Given the description of an element on the screen output the (x, y) to click on. 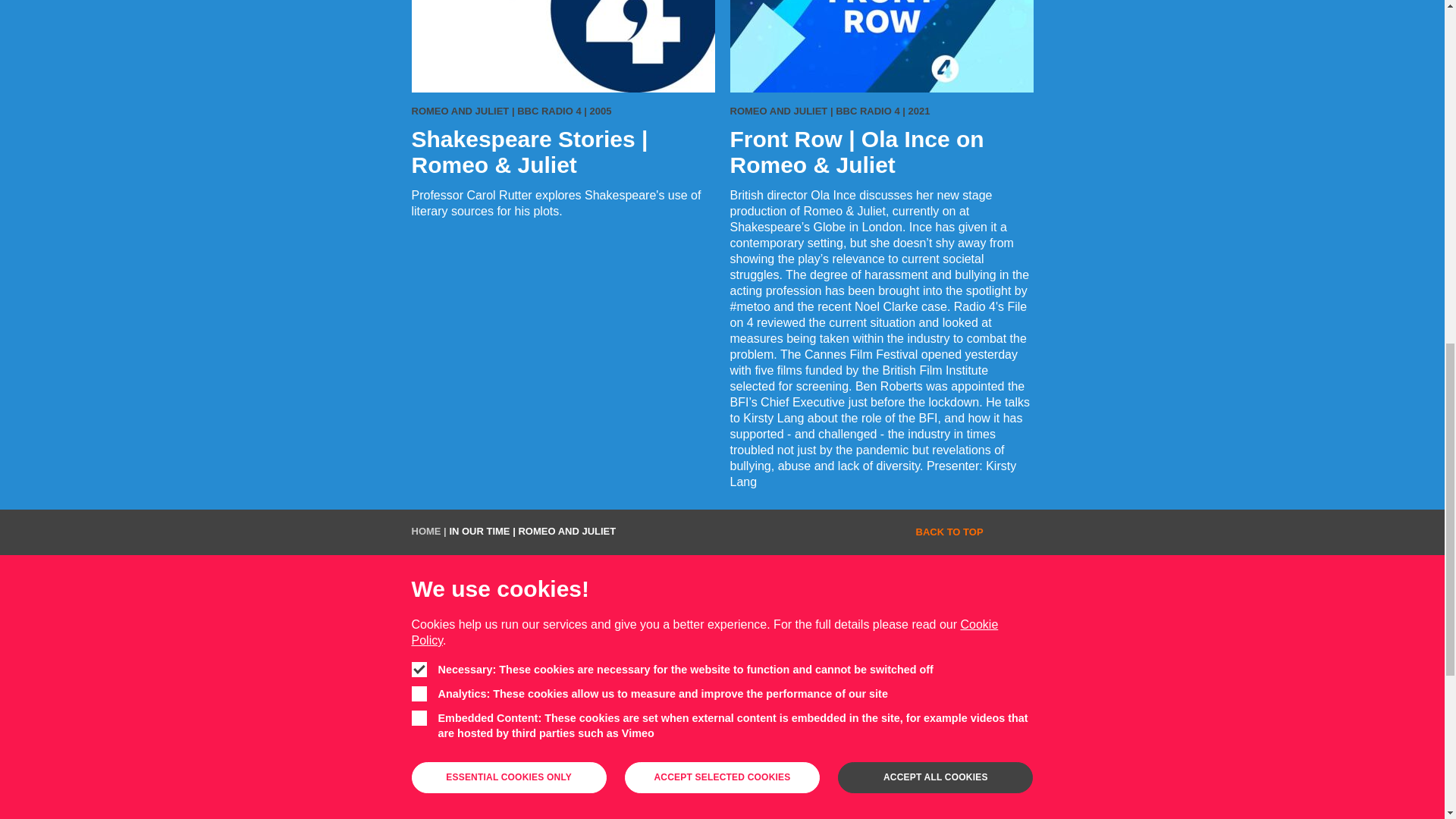
Sign Up (722, 685)
